Given the description of an element on the screen output the (x, y) to click on. 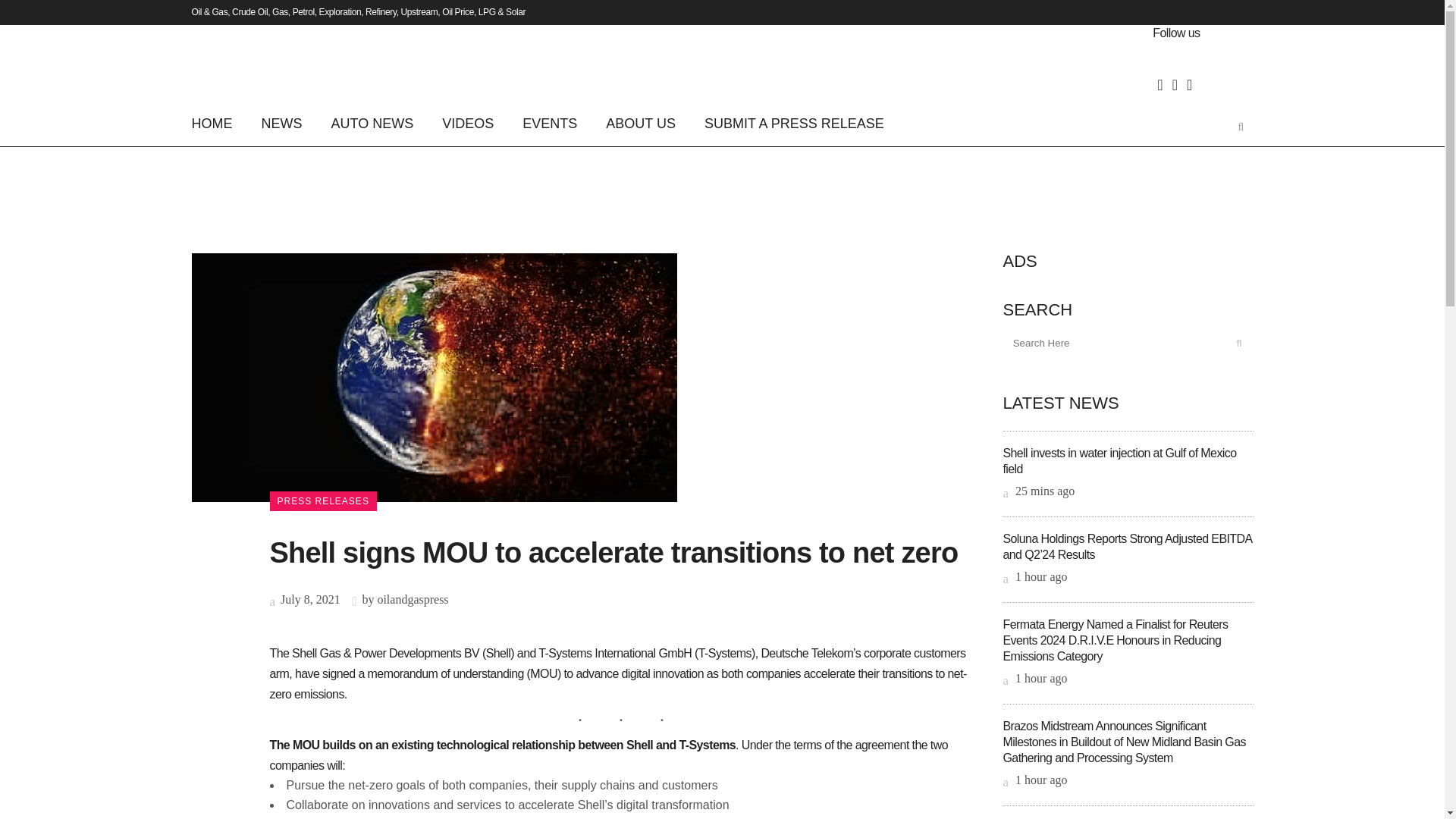
PRESS RELEASES (323, 501)
NEWS (282, 123)
ABOUT US (640, 123)
HOME (218, 123)
VIDEOS (468, 123)
SUBMIT A PRESS RELEASE (794, 123)
EVENTS (549, 123)
oilandgaspress (412, 599)
